Given the description of an element on the screen output the (x, y) to click on. 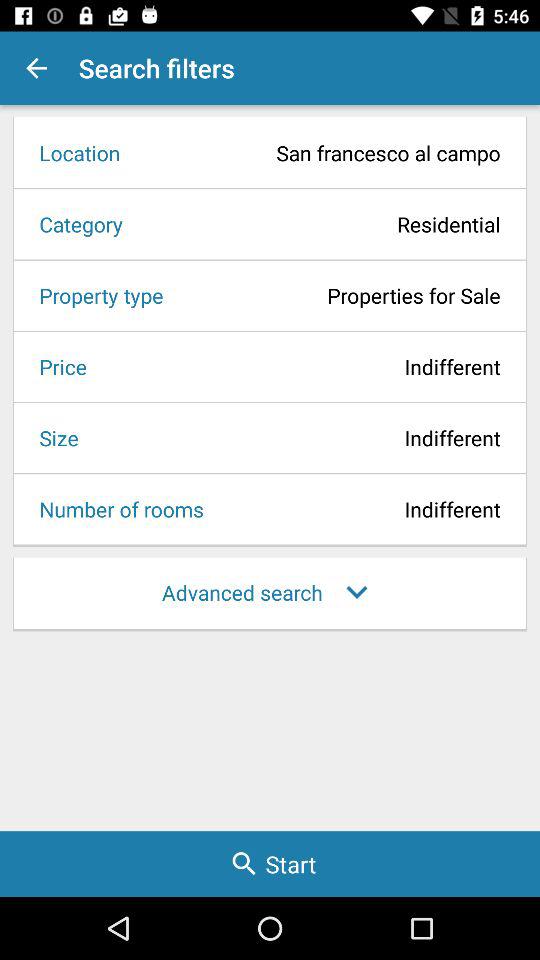
tap size icon (52, 437)
